Given the description of an element on the screen output the (x, y) to click on. 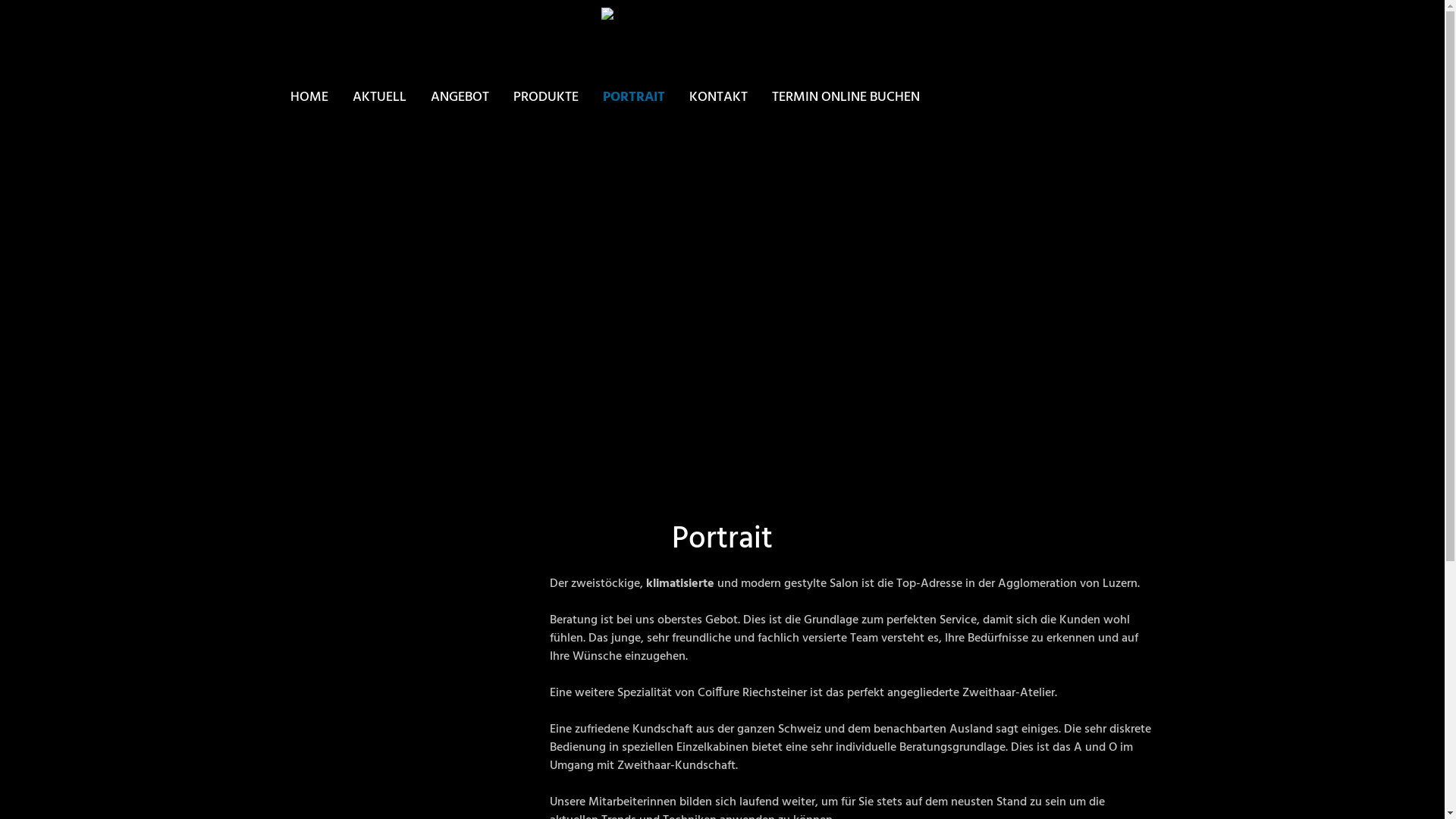
AKTUELL Element type: text (378, 97)
PRODUKTE Element type: text (545, 97)
ANGEBOT Element type: text (459, 97)
  Element type: text (289, 114)
HOME Element type: text (313, 97)
TERMIN ONLINE BUCHEN Element type: text (845, 97)
KONTAKT Element type: text (717, 97)
